Given the description of an element on the screen output the (x, y) to click on. 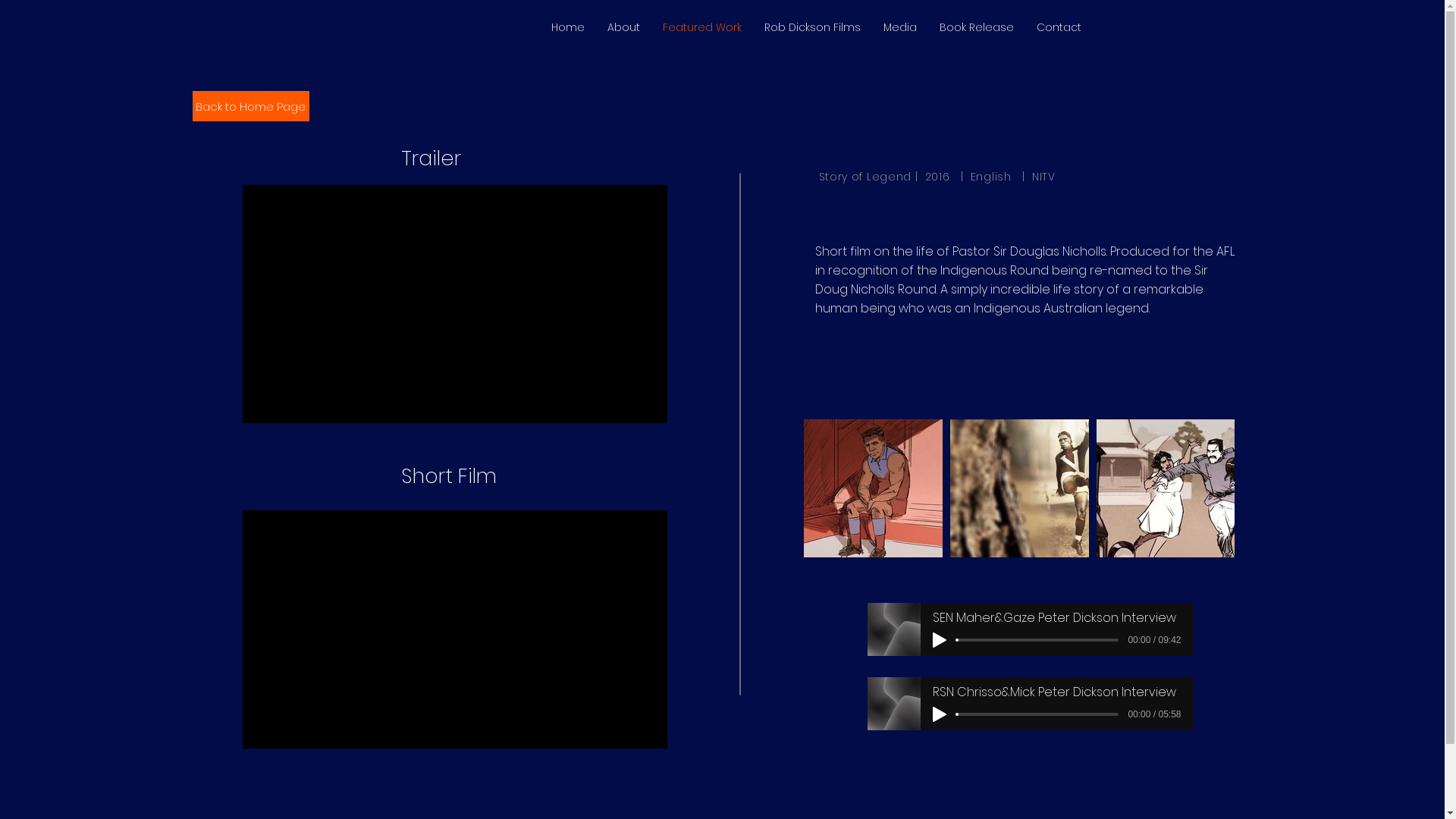
Home Element type: text (567, 26)
Featured Work Element type: text (701, 26)
Back to Home Page Element type: text (250, 106)
Media Element type: text (900, 26)
< Back to Catalogue Element type: text (410, 172)
Rob Dickson Films Element type: text (811, 26)
Contact Element type: text (1058, 26)
About Element type: text (623, 26)
Get Screening License Element type: text (968, 547)
Book Release Element type: text (976, 26)
